Given the description of an element on the screen output the (x, y) to click on. 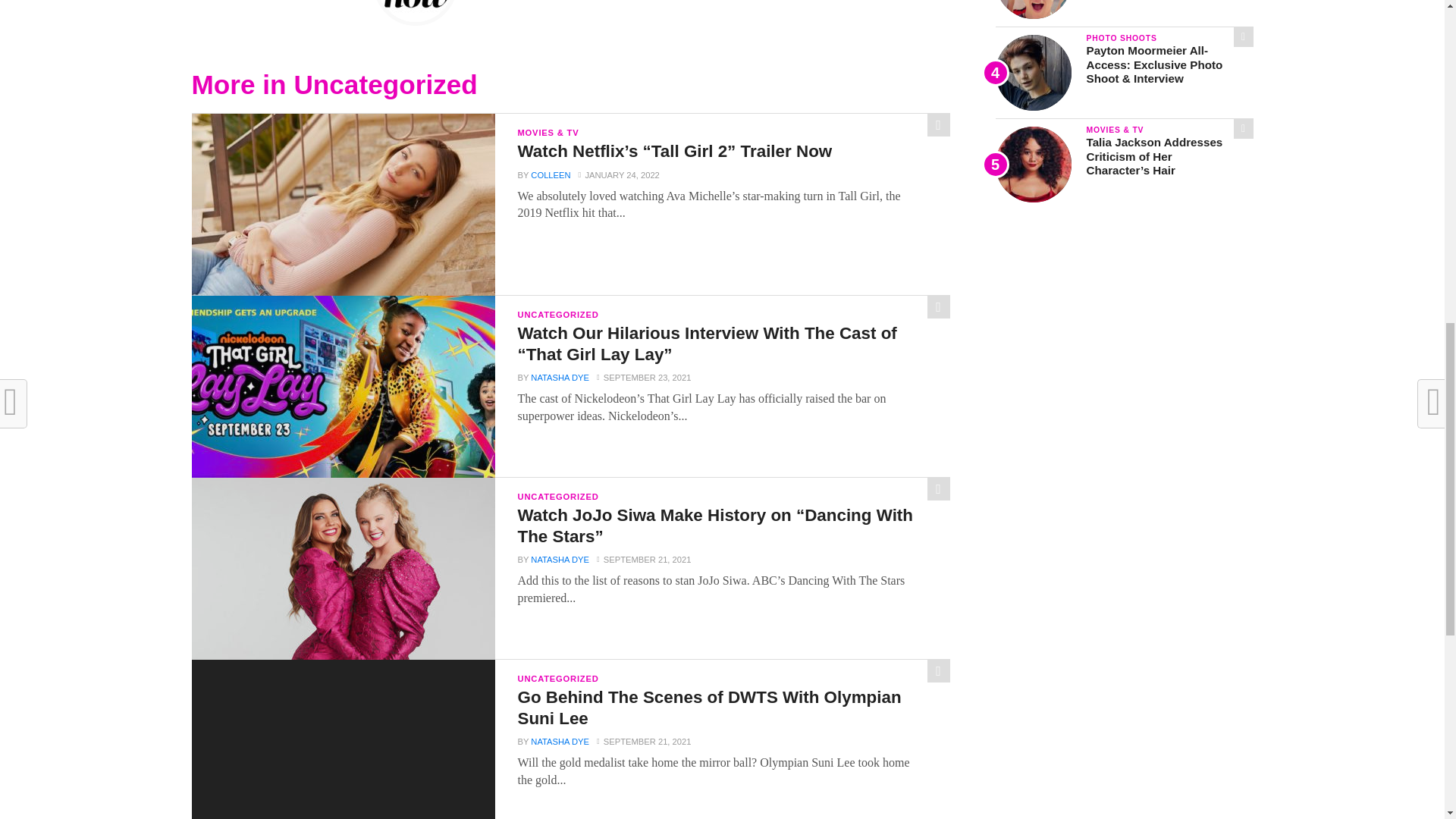
Posts by Natasha Dye (560, 559)
Posts by colleen (550, 174)
Posts by Natasha Dye (560, 377)
